Given the description of an element on the screen output the (x, y) to click on. 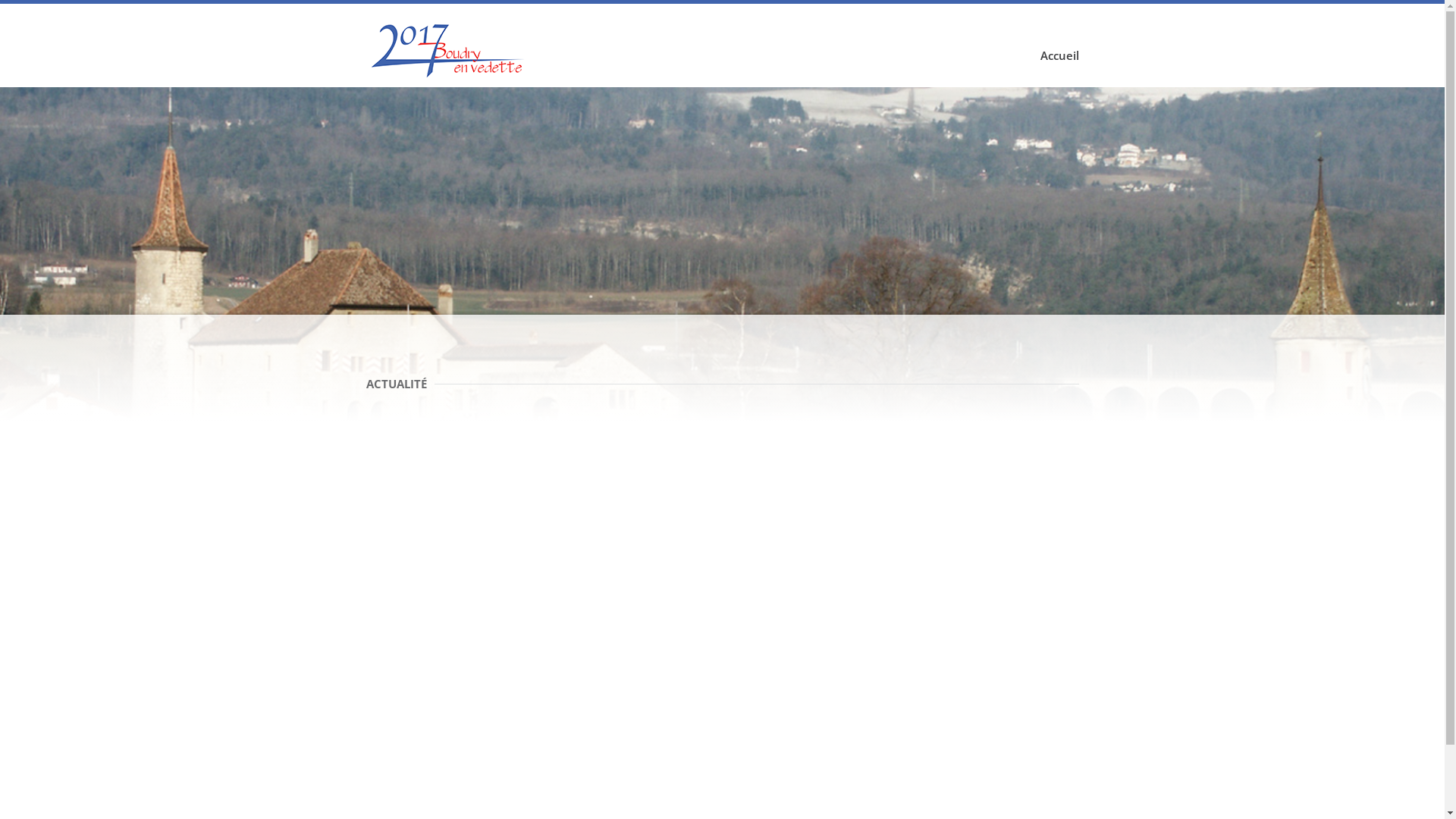
2017 Boudry Element type: text (449, 48)
Accueil Element type: text (1059, 54)
